Given the description of an element on the screen output the (x, y) to click on. 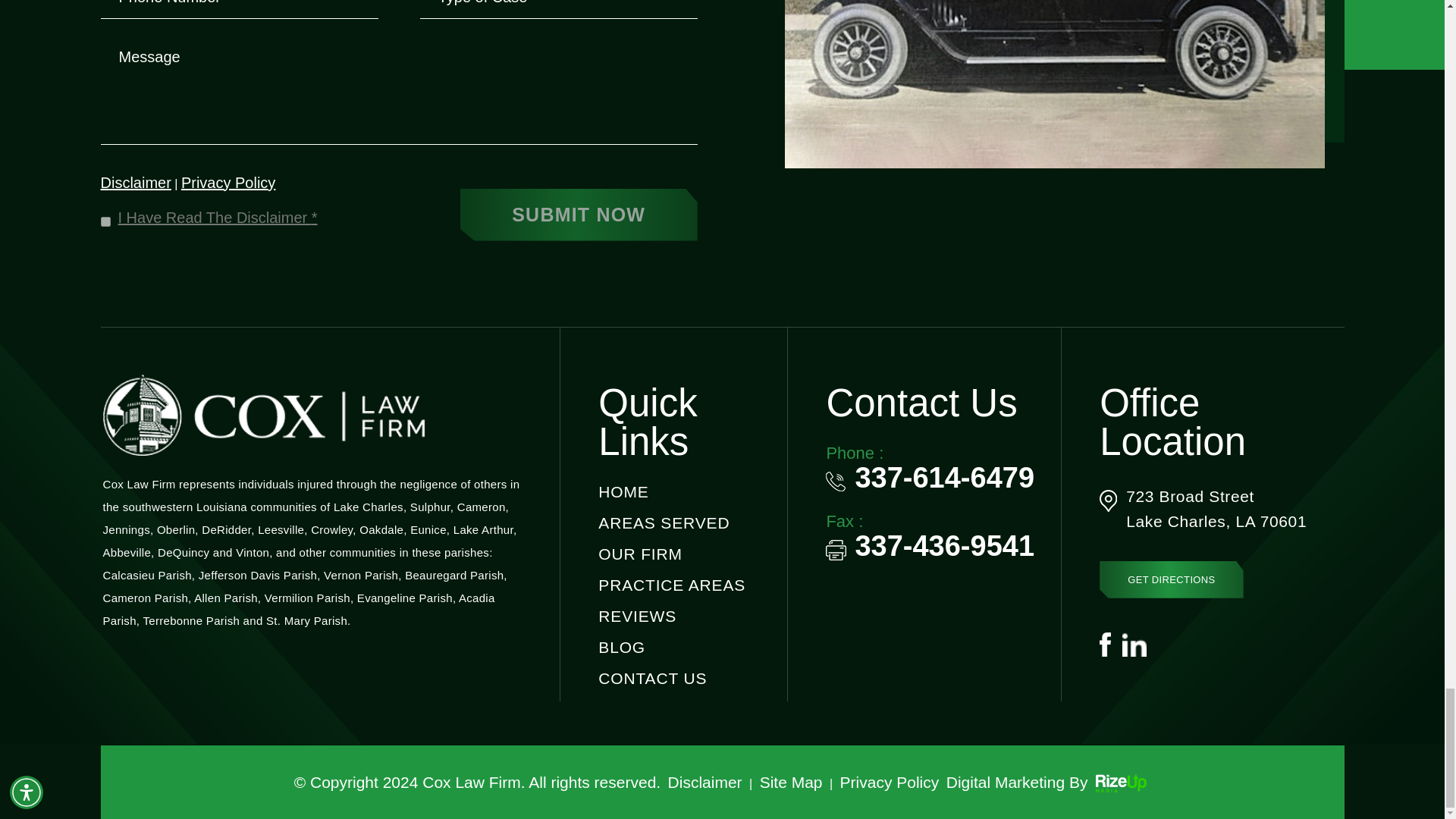
Submit Now (578, 214)
